Given the description of an element on the screen output the (x, y) to click on. 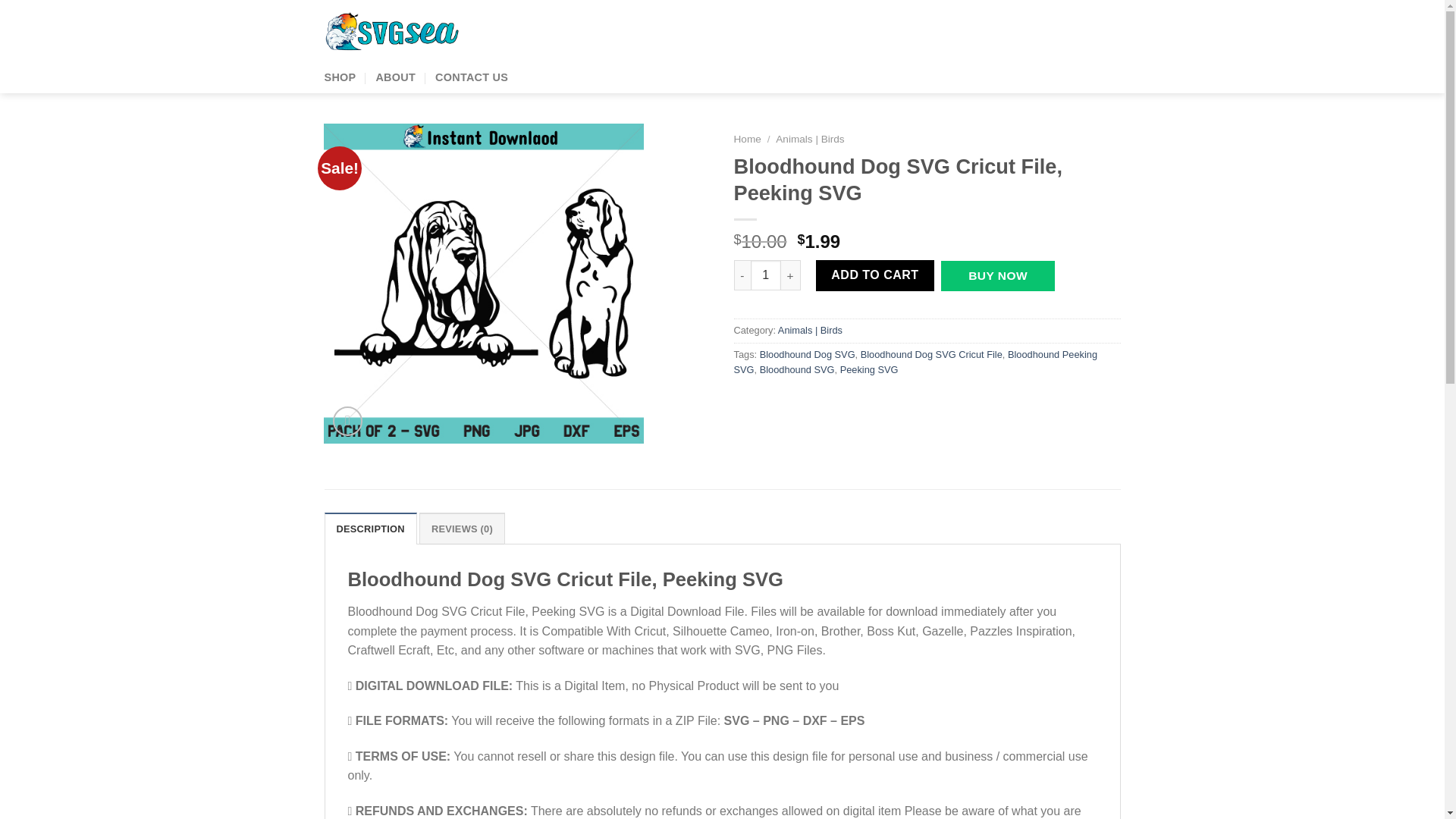
Zoom (347, 420)
Search (923, 32)
ADD TO CART (874, 275)
Bloodhound Peeking SVG (915, 361)
Bloodhound Dog SVG Cricut File (931, 354)
BUY NOW (997, 276)
Bloodhound Dog SVG (808, 354)
Bloodhound SVG (797, 369)
Peeking SVG (869, 369)
